Given the description of an element on the screen output the (x, y) to click on. 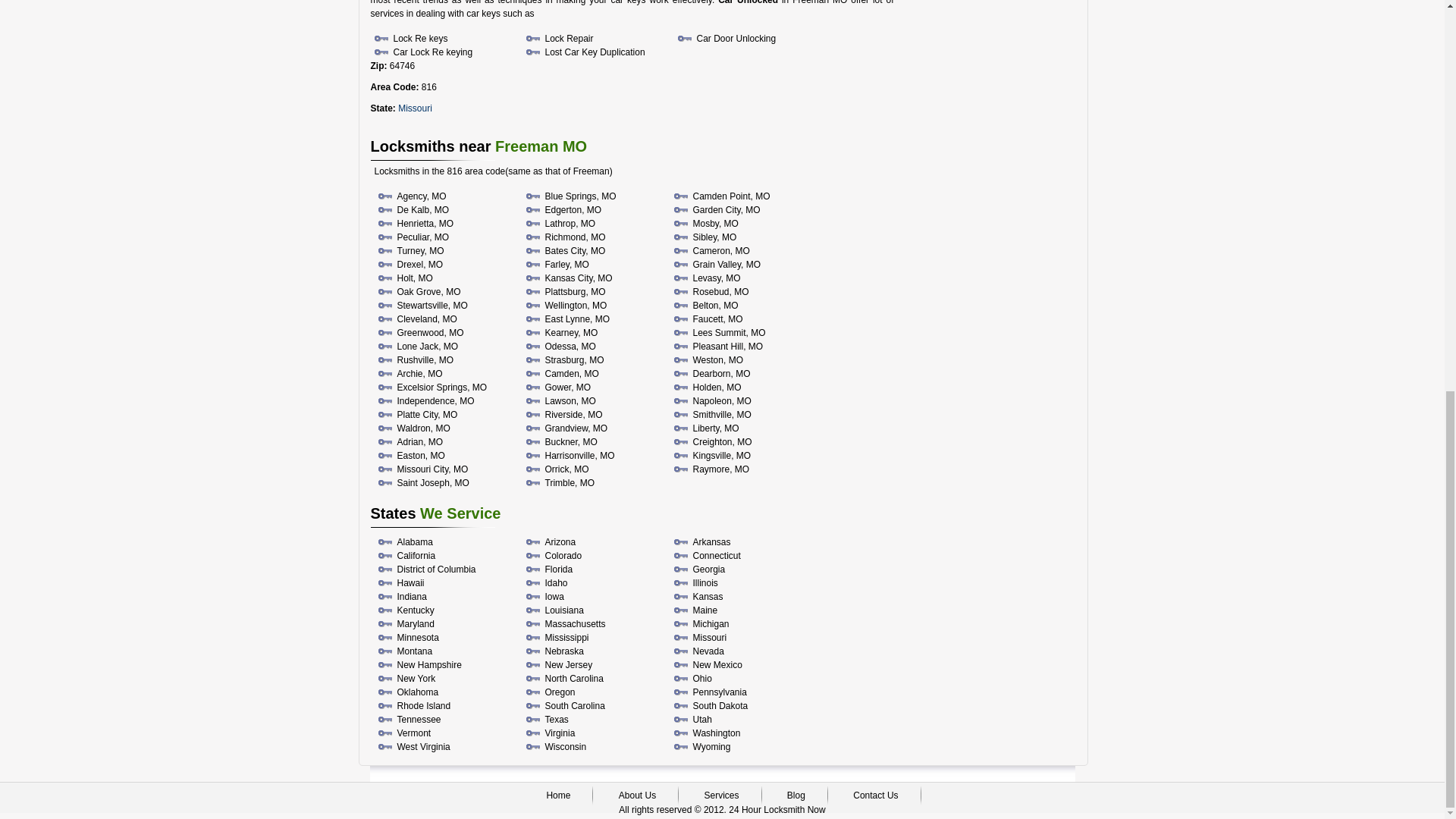
Levasy, MO (717, 277)
Turney, MO (420, 250)
Stewartsville, MO (432, 305)
Agency, MO (421, 195)
Lathrop, MO (569, 223)
Drexel, MO (420, 264)
Edgerton, MO (572, 209)
Faucett, MO (717, 318)
Richmond, MO (574, 236)
Plattsburg, MO (574, 291)
Mosby, MO (715, 223)
Blue Springs, MO (579, 195)
